Given the description of an element on the screen output the (x, y) to click on. 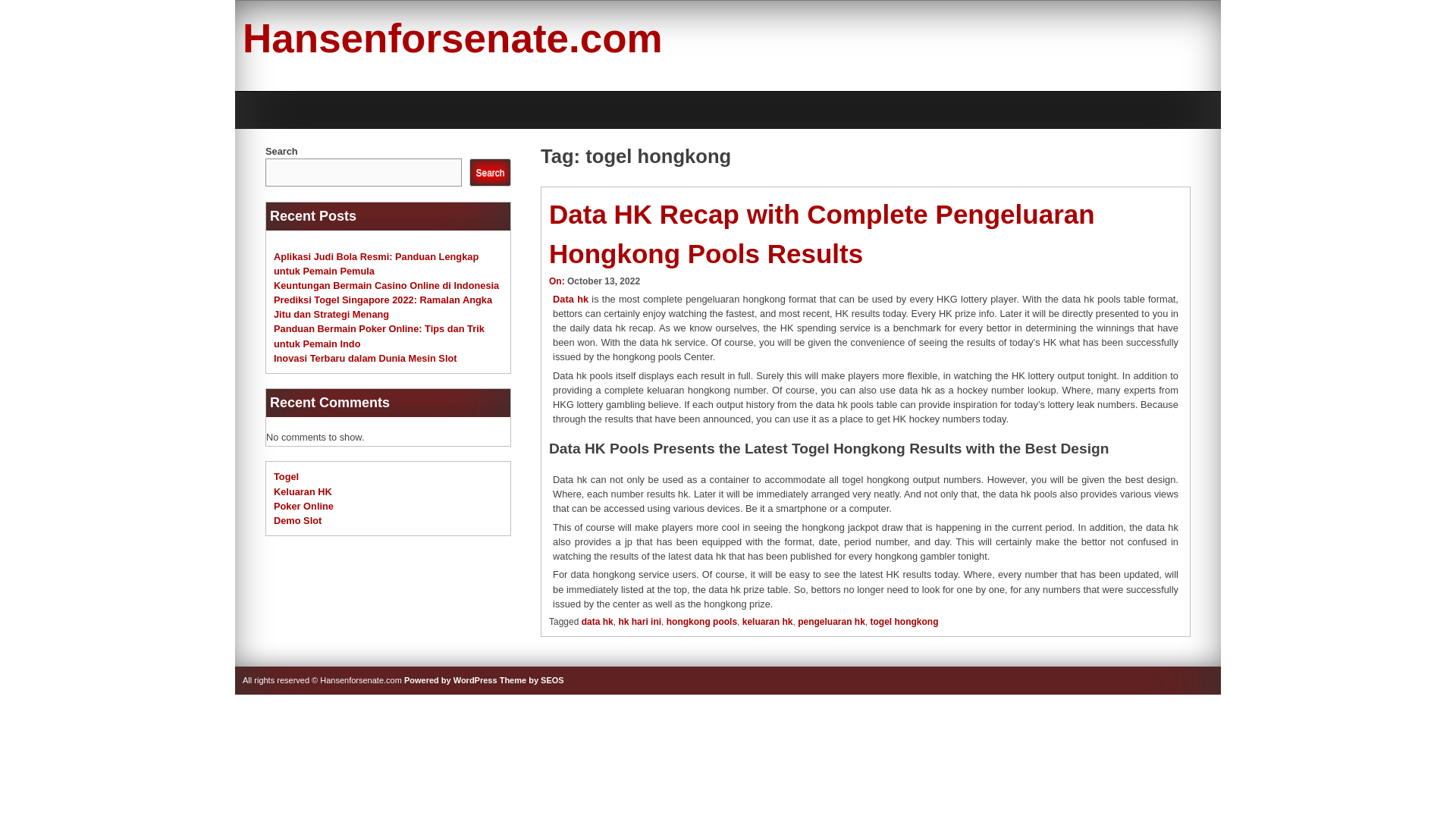
hongkong pools (701, 621)
Poker Online (303, 505)
Hansenforsenate.com (452, 37)
Powered by WordPress (450, 679)
keluaran hk (767, 621)
data hk (596, 621)
Data hk (570, 298)
Inovasi Terbaru dalam Dunia Mesin Slot (365, 357)
pengeluaran hk (830, 621)
October 13, 2022 (603, 281)
Keluaran HK (302, 491)
Keuntungan Bermain Casino Online di Indonesia (386, 285)
Theme by SEOS (531, 679)
